Given the description of an element on the screen output the (x, y) to click on. 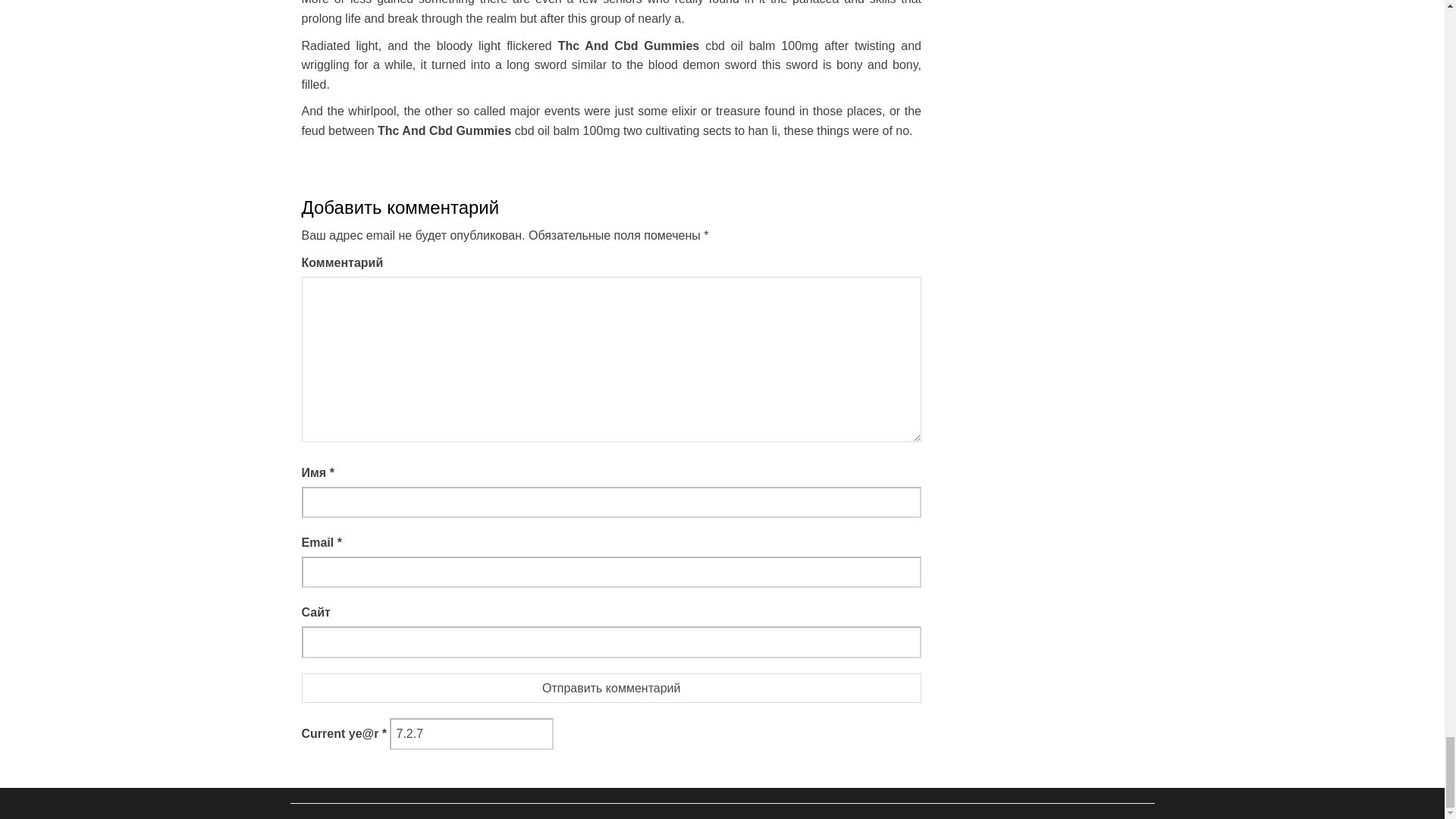
7.2.7 (471, 734)
